Given the description of an element on the screen output the (x, y) to click on. 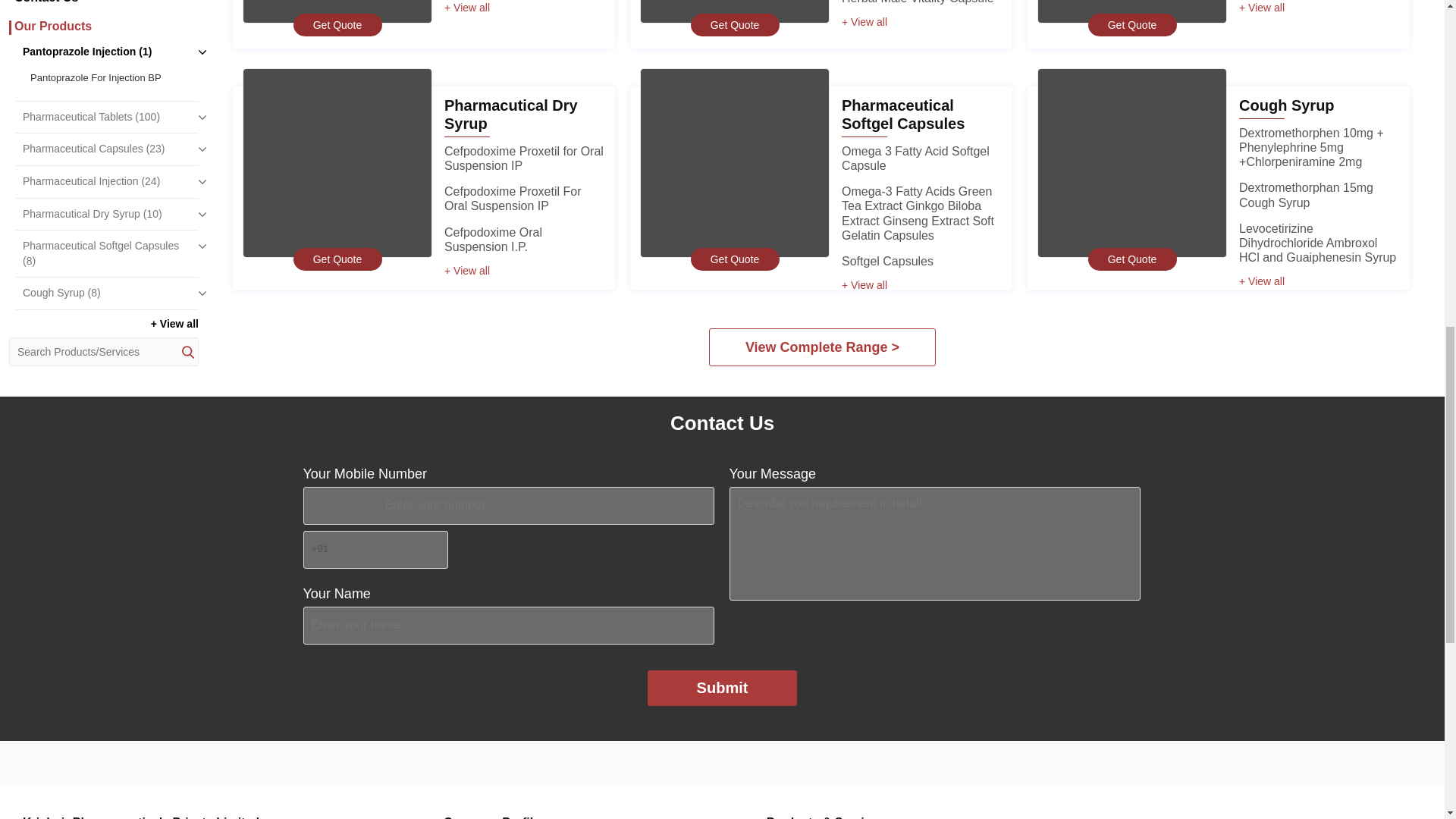
Submit (722, 687)
